Given the description of an element on the screen output the (x, y) to click on. 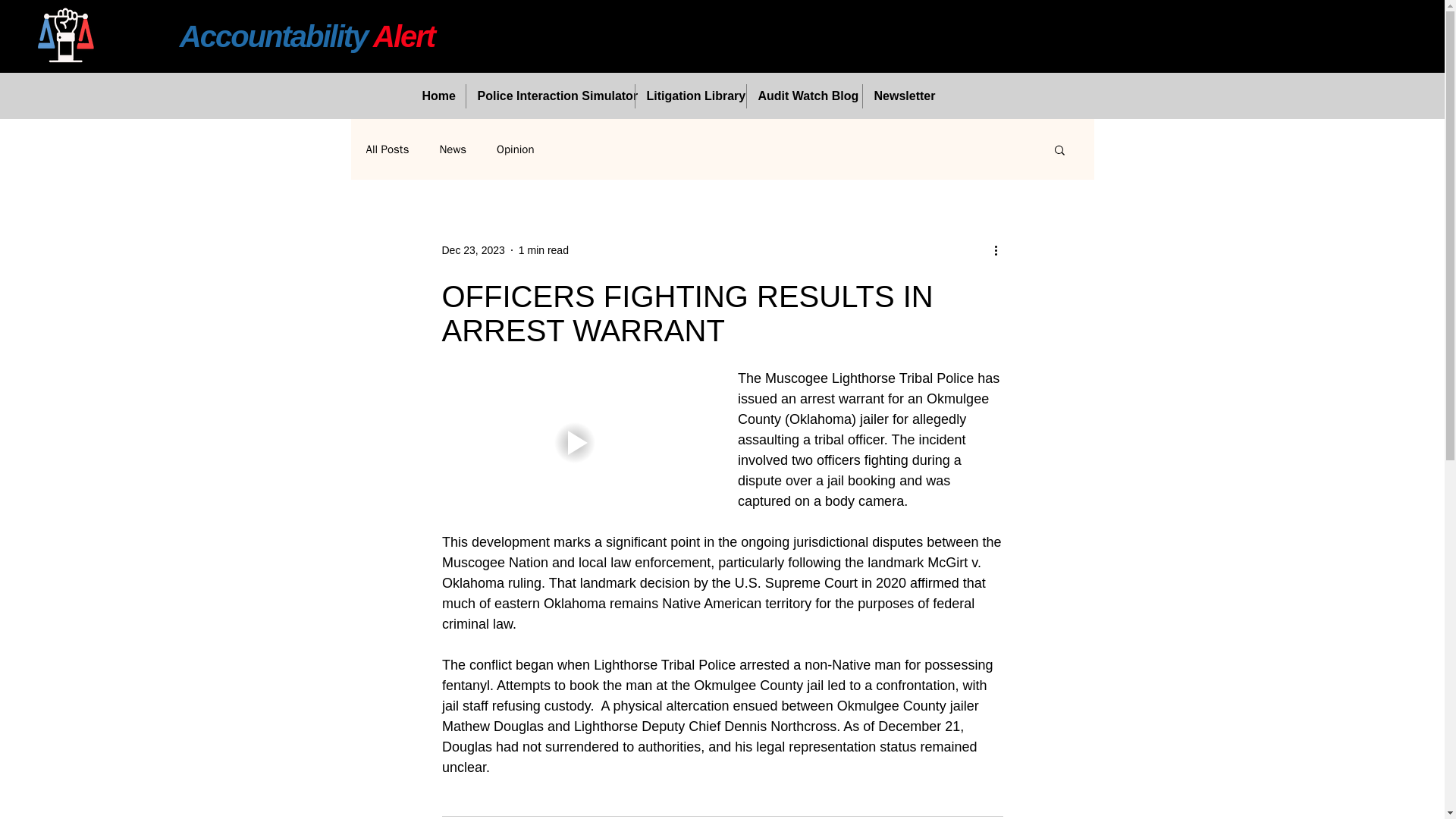
Opinion (515, 149)
1 min read (543, 250)
Litigation Library (689, 96)
Dec 23, 2023 (472, 250)
Audit Watch Blog (803, 96)
Accountability Alert (306, 36)
All Posts (387, 149)
Newsletter (903, 96)
Home (437, 96)
Police Interaction Simulator (549, 96)
